Given the description of an element on the screen output the (x, y) to click on. 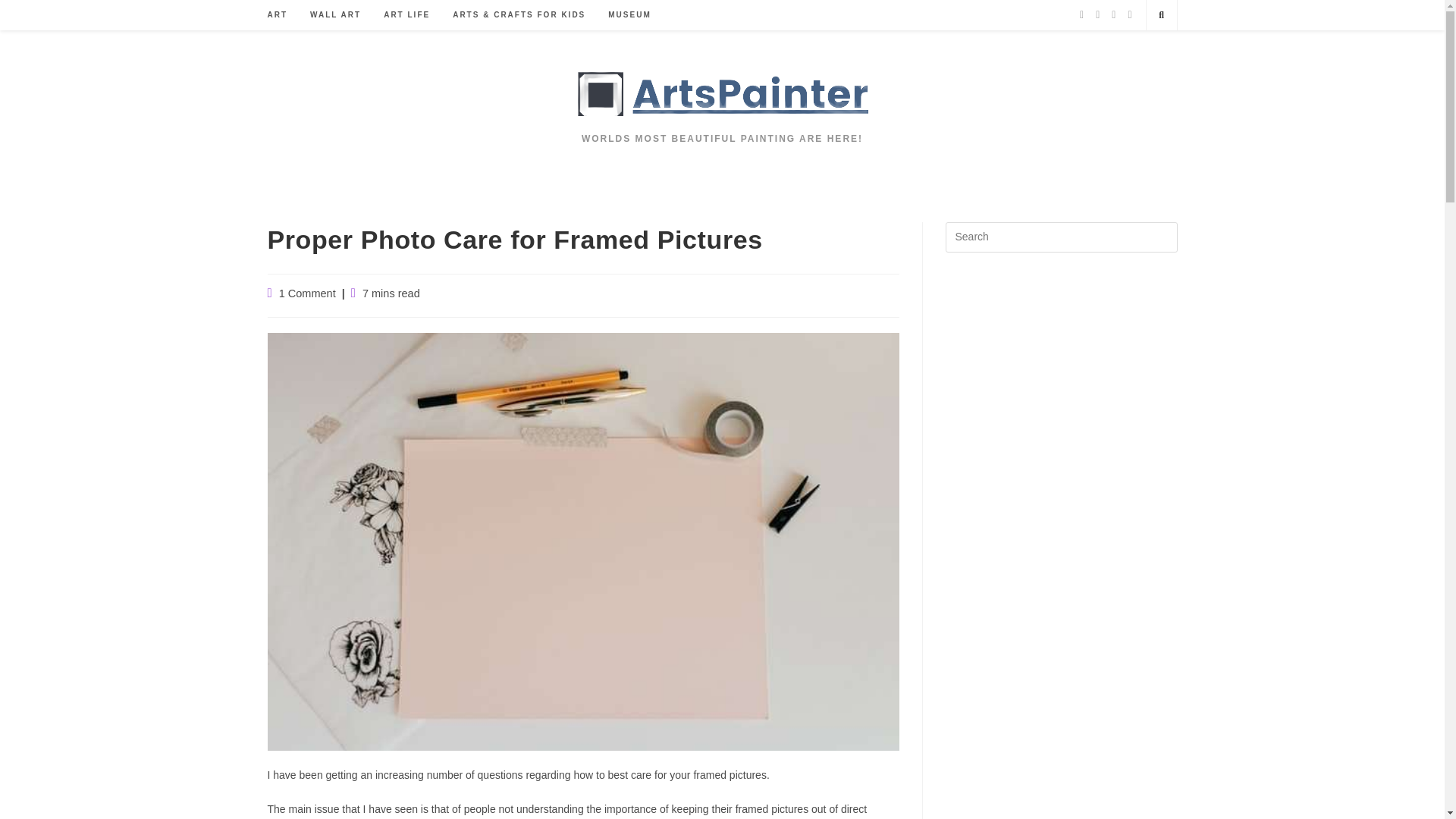
ART (277, 15)
ART LIFE (406, 15)
WALL ART (335, 15)
1 Comment (307, 293)
MUSEUM (629, 15)
